Given the description of an element on the screen output the (x, y) to click on. 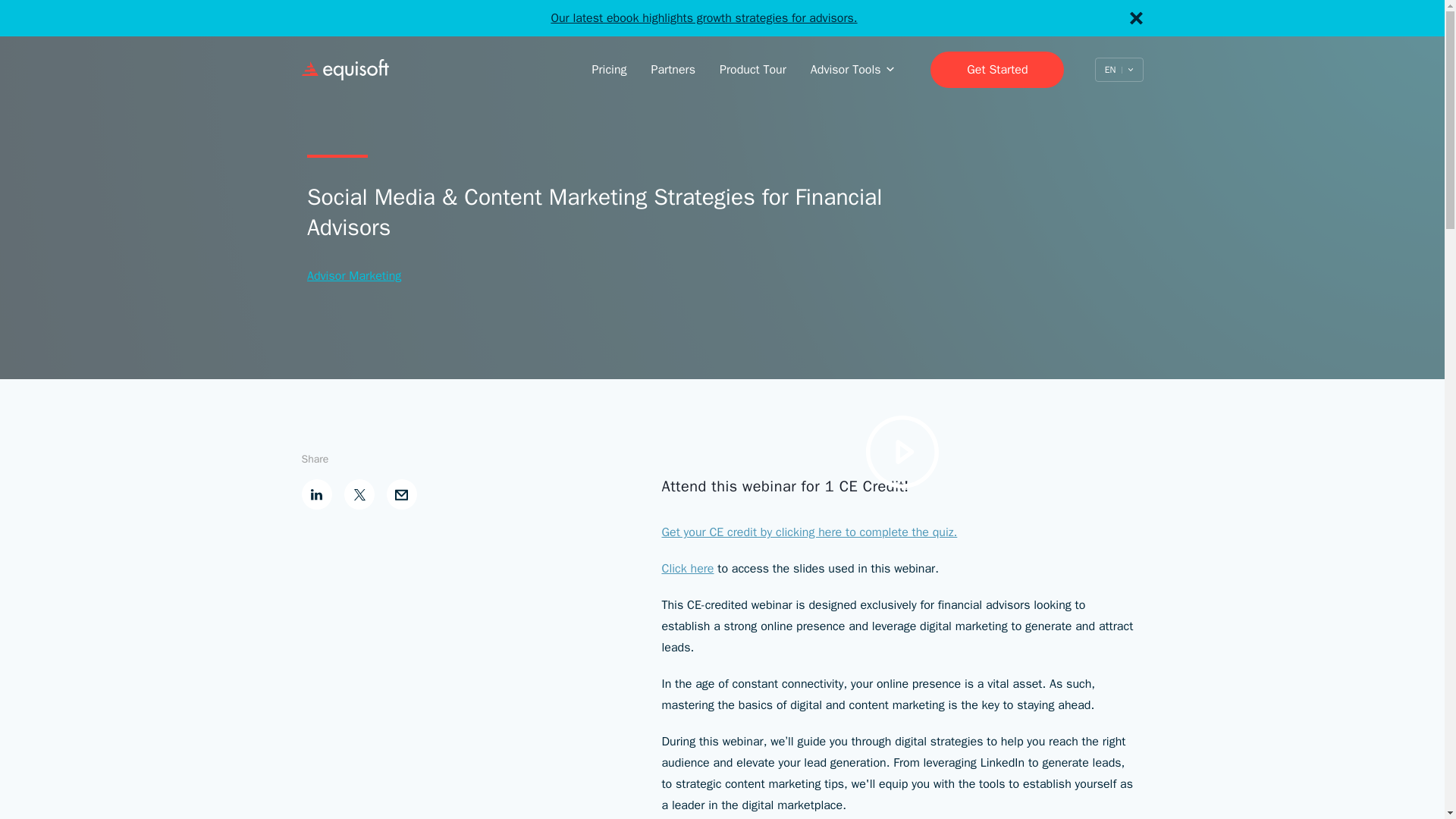
Advisor Tools (851, 69)
Get Started (997, 69)
Click here (687, 568)
Product Tour (752, 69)
Our latest ebook highlights growth strategies for advisors. (703, 17)
Advisor Marketing (354, 275)
Get your CE credit by clicking here to complete the quiz. (808, 531)
